Given the description of an element on the screen output the (x, y) to click on. 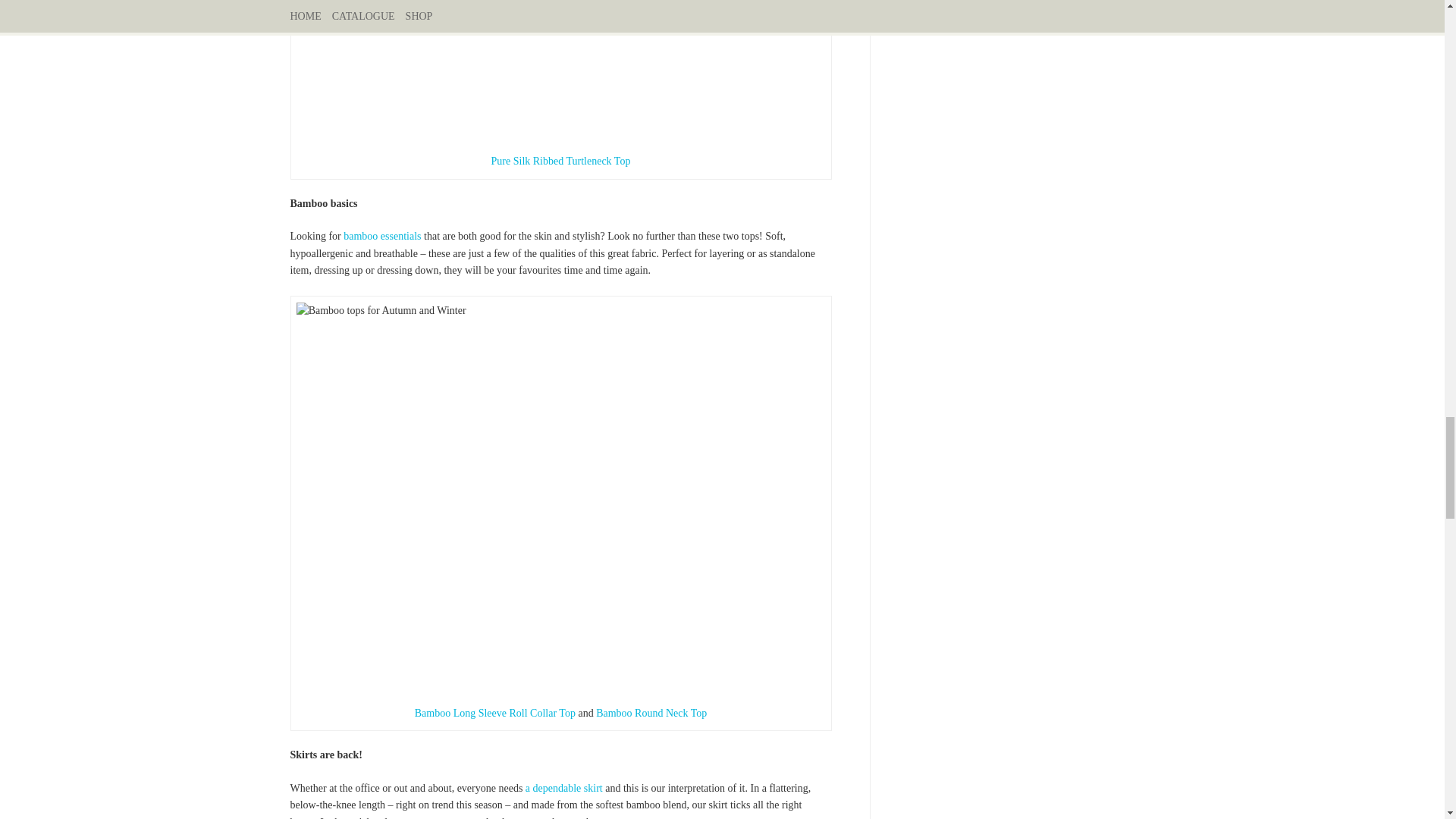
Bamboo Round Neck Top (650, 713)
Pure Silk Ribbed Turtleneck Top (561, 161)
Bamboo Long Sleeve Roll Collar Top (496, 713)
a dependable skirt (563, 787)
bamboo essentials (381, 235)
